Given the description of an element on the screen output the (x, y) to click on. 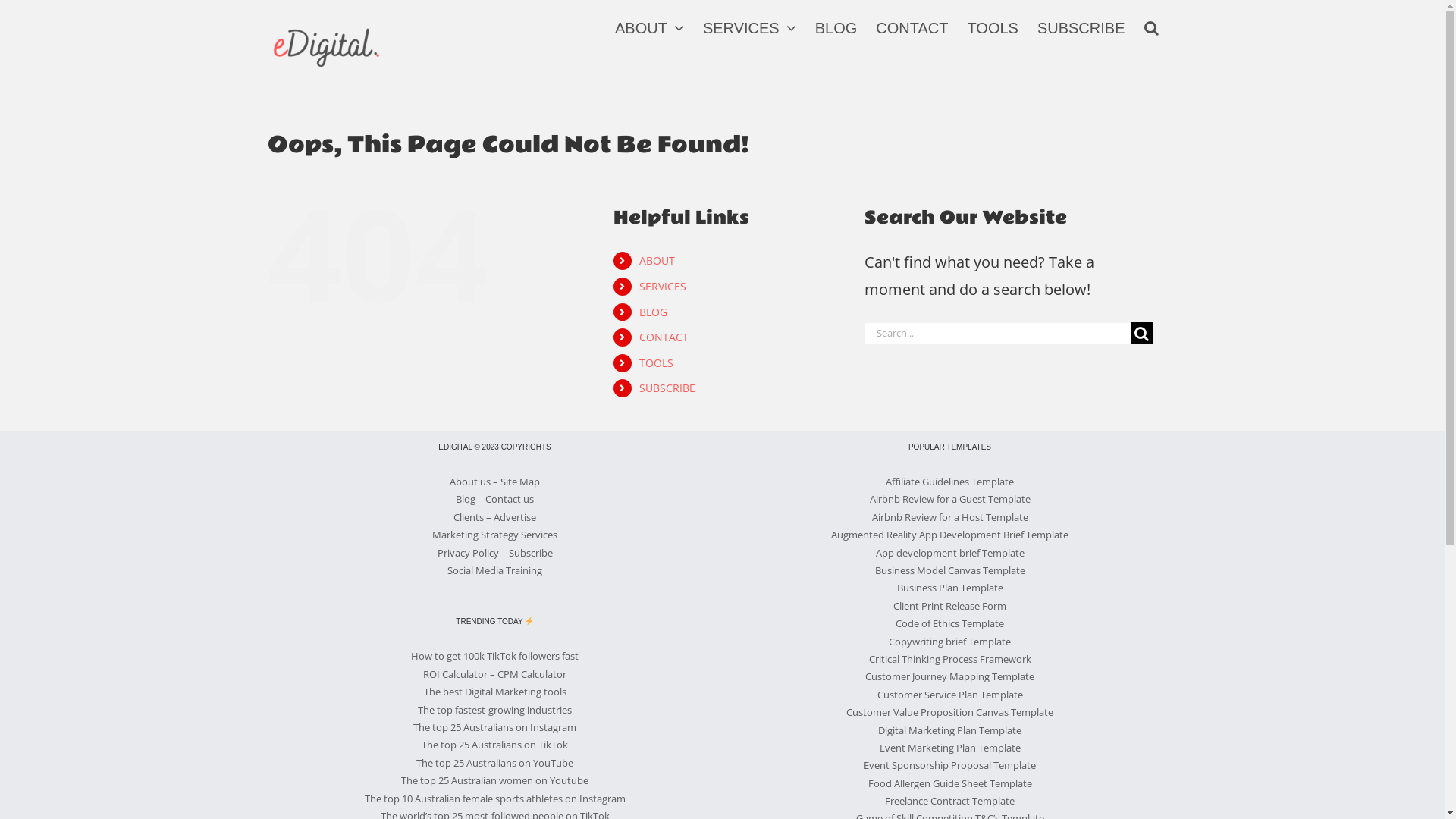
CPM Calculator Element type: text (531, 673)
Critical Thinking Process Framework Element type: text (950, 658)
Food Allergen Guide Sheet Template Element type: text (949, 783)
Digital Marketing Plan Template Element type: text (949, 730)
Copywriting brief Template Element type: text (949, 641)
Affiliate Guidelines Template Element type: text (949, 481)
TOOLS Element type: text (991, 27)
CONTACT Element type: text (663, 336)
SERVICES Element type: text (662, 286)
Business Model Canvas Template Element type: text (950, 570)
The top 10 Australian female sports athletes on Instagram Element type: text (494, 798)
Blog Element type: text (465, 498)
The top fastest-growing industries Element type: text (494, 709)
ABOUT Element type: text (656, 260)
SERVICES Element type: text (749, 27)
Social Media Training Element type: text (494, 570)
Freelance Contract Template Element type: text (949, 800)
The top 25 Australians on TikTok Element type: text (494, 744)
ROI Calculator Element type: text (455, 673)
BLOG Element type: text (653, 311)
Advertise Element type: text (514, 517)
Customer Service Plan Template Element type: text (949, 694)
Contact us Element type: text (509, 498)
Event Marketing Plan Template Element type: text (949, 747)
ABOUT Element type: text (649, 27)
Clients Element type: text (468, 517)
Event Sponsorship Proposal Template Element type: text (949, 764)
Airbnb Review for a Guest Template Element type: text (949, 498)
Customer Value Proposition Canvas Template Element type: text (949, 711)
App development brief Template Element type: text (949, 552)
Customer Journey Mapping Template Element type: text (949, 676)
About us Element type: text (469, 481)
Augmented Reality App Development Brief Template Element type: text (949, 534)
Airbnb Review for a Host Template Element type: text (950, 517)
Marketing Strategy Services Element type: text (494, 534)
The top 25 Australians on Instagram Element type: text (494, 727)
SUBSCRIBE Element type: text (1081, 27)
SUBSCRIBE Element type: text (667, 387)
Search Element type: hover (1150, 27)
Privacy Policy Element type: text (467, 552)
BLOG Element type: text (836, 27)
The best Digital Marketing tools Element type: text (494, 691)
Code of Ethics Template Element type: text (949, 623)
How to get 100k TikTok followers fast Element type: text (494, 655)
Client Print Release Form Element type: text (949, 605)
The top 25 Australian women on Youtube Element type: text (494, 780)
The top 25 Australians on YouTube Element type: text (494, 762)
Subscribe Element type: text (530, 552)
CONTACT Element type: text (911, 27)
TOOLS Element type: text (656, 362)
Business Plan Template Element type: text (949, 587)
Site Map Element type: text (519, 481)
